Given the description of an element on the screen output the (x, y) to click on. 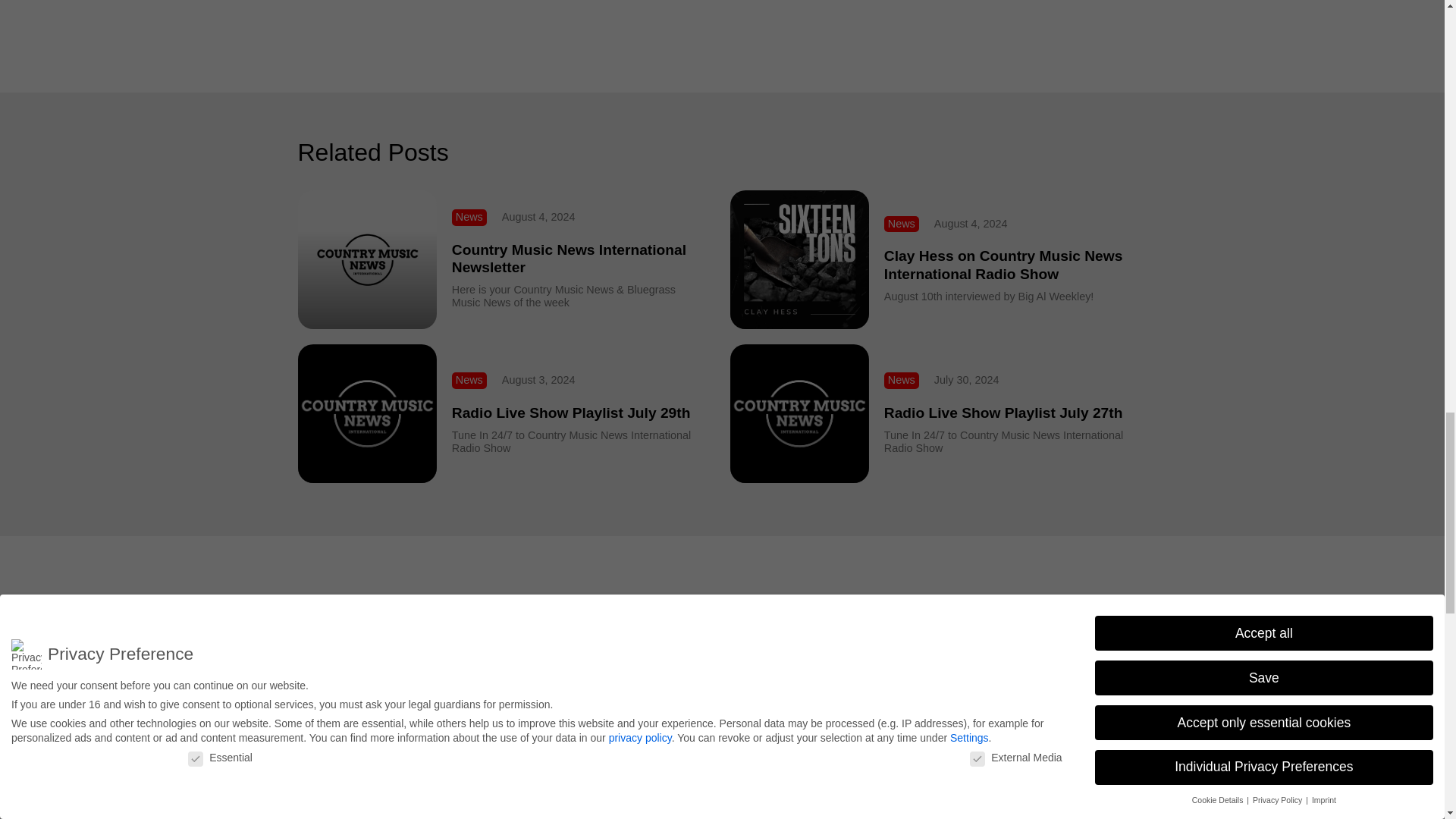
News (901, 216)
News (469, 225)
News (901, 379)
News (469, 377)
